Given the description of an element on the screen output the (x, y) to click on. 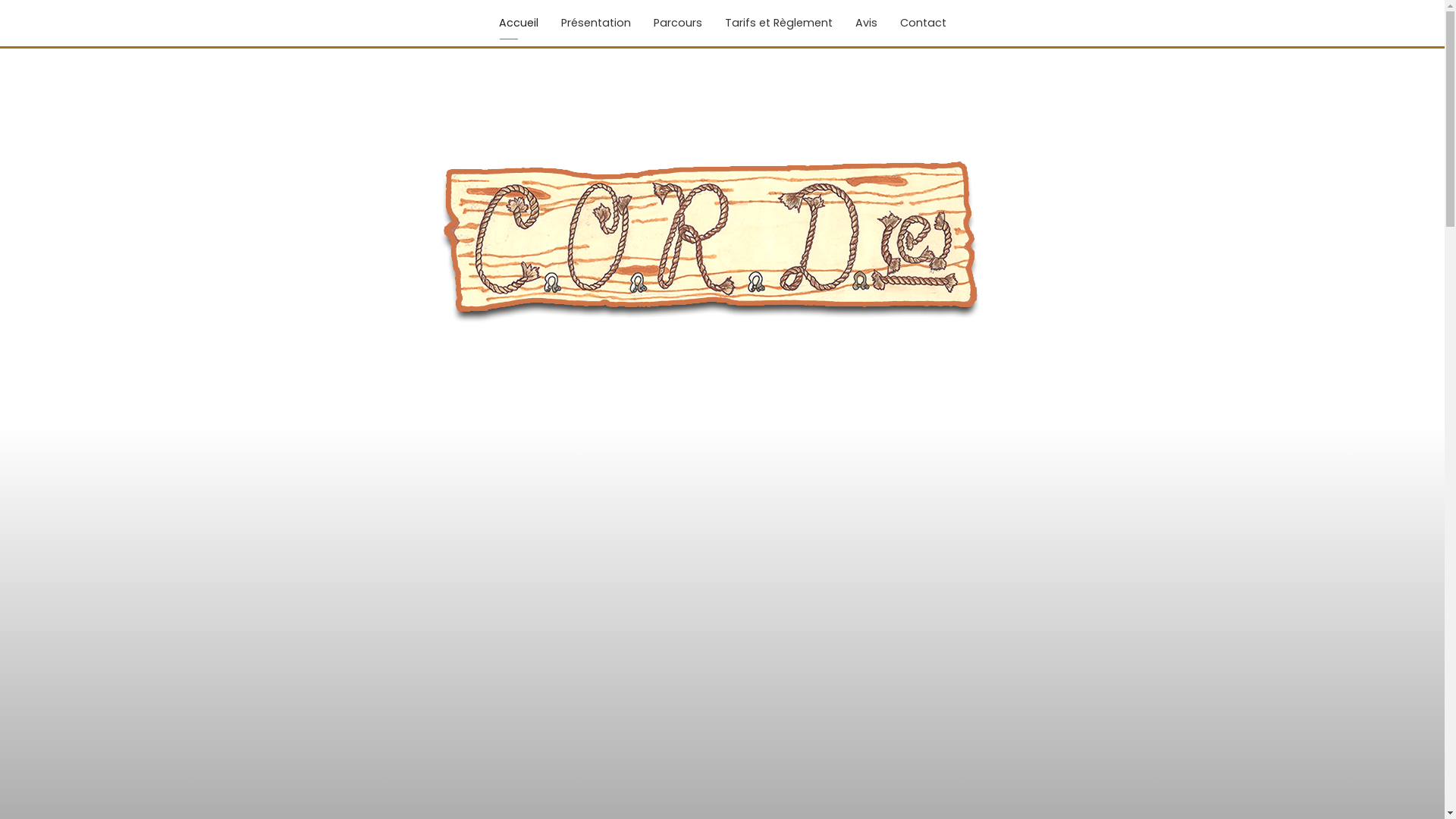
Parcours Element type: text (676, 22)
C.O.R.D.E Element type: hover (722, 236)
Avis Element type: text (865, 22)
Contact Element type: text (922, 22)
Accueil Element type: text (517, 22)
